Given the description of an element on the screen output the (x, y) to click on. 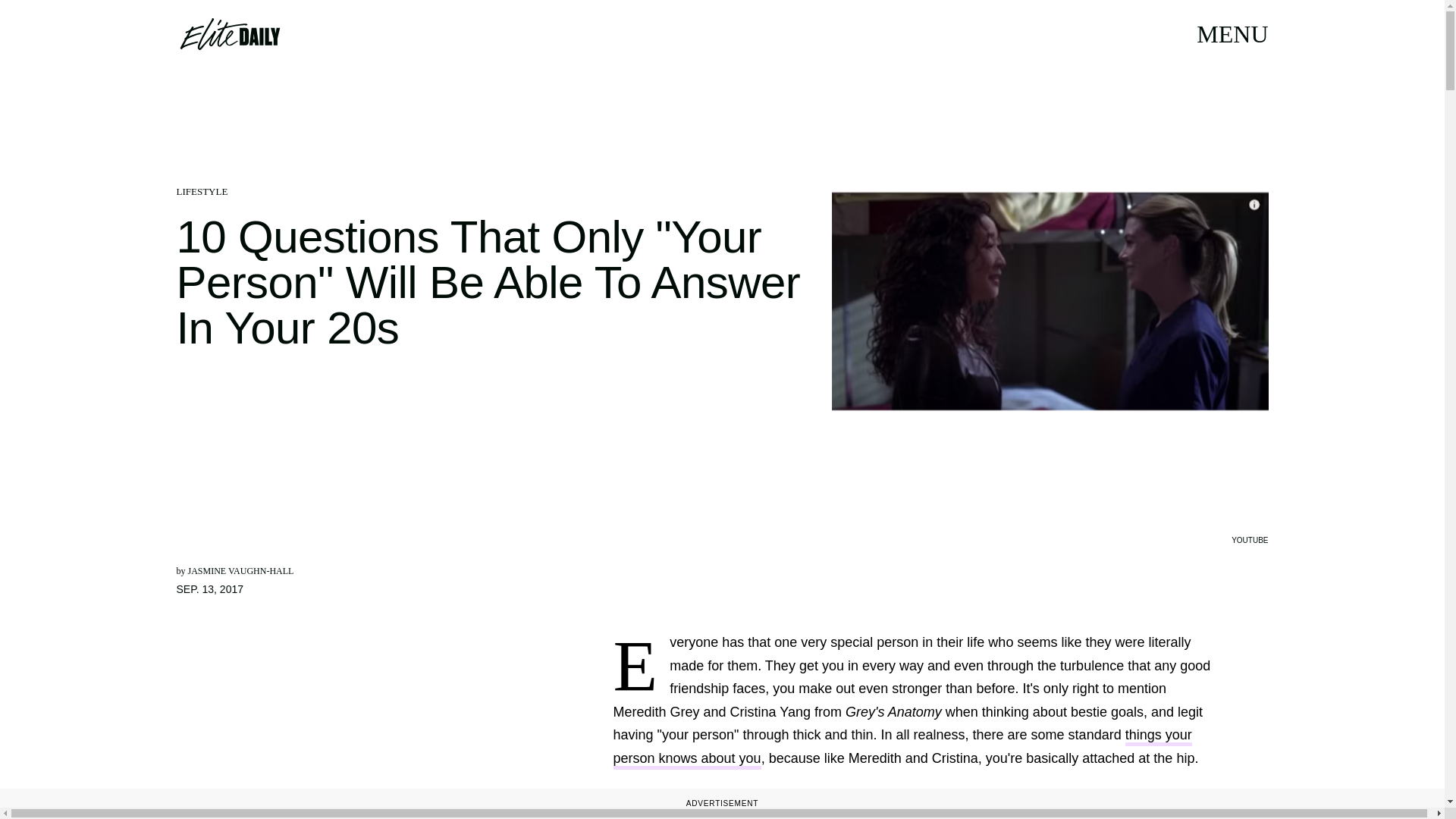
Elite Daily (229, 33)
things your person knows about you (901, 748)
JASMINE VAUGHN-HALL (240, 570)
